Given the description of an element on the screen output the (x, y) to click on. 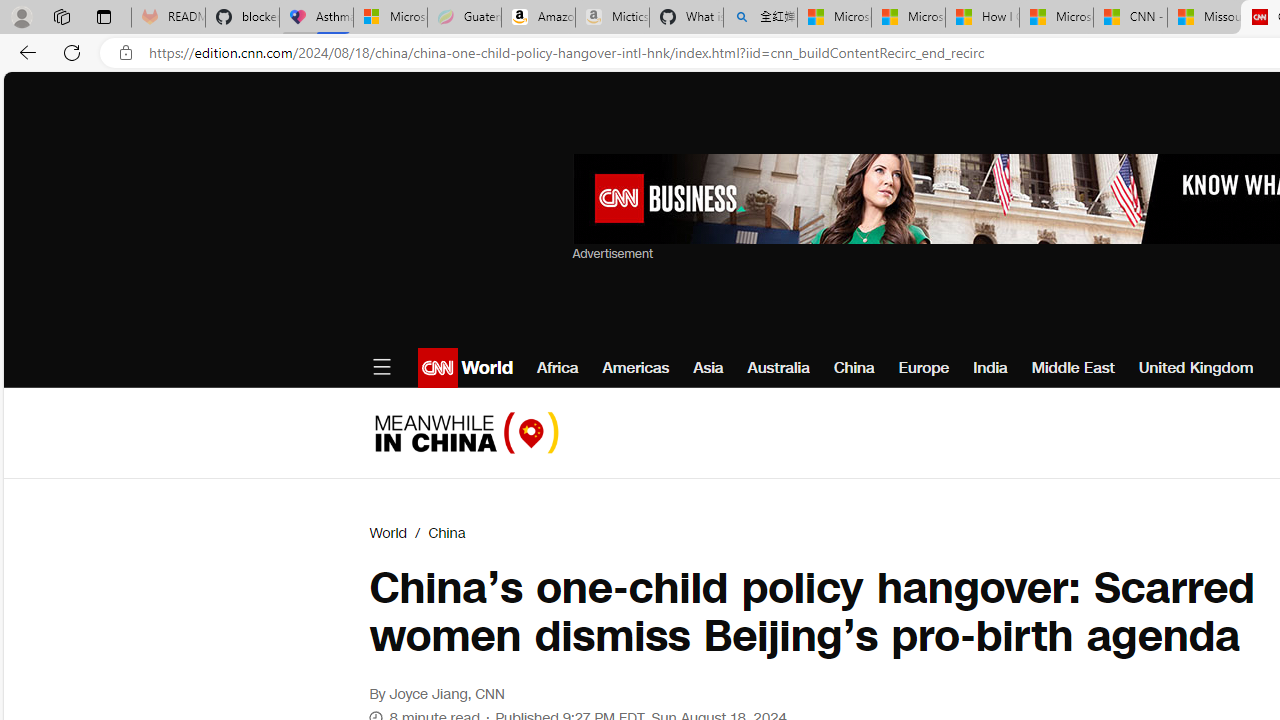
Open Menu Icon (381, 367)
CNN - MSN (1130, 17)
India (990, 367)
Americas (635, 367)
Europe (923, 367)
Asia (708, 367)
United Kingdom (1195, 367)
China (446, 533)
Meanwhile in China (465, 432)
